Given the description of an element on the screen output the (x, y) to click on. 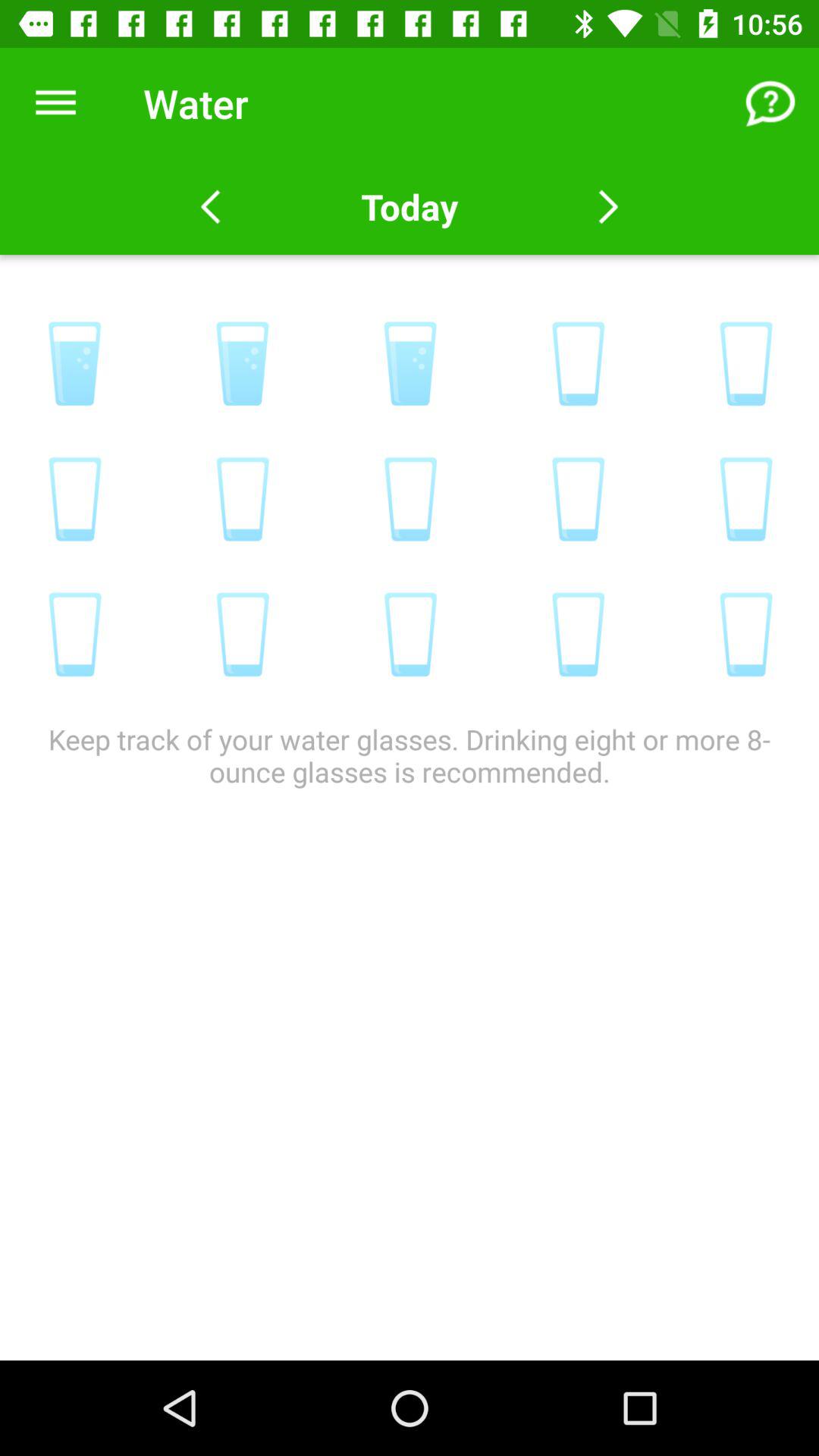
open icon below water icon (409, 206)
